Given the description of an element on the screen output the (x, y) to click on. 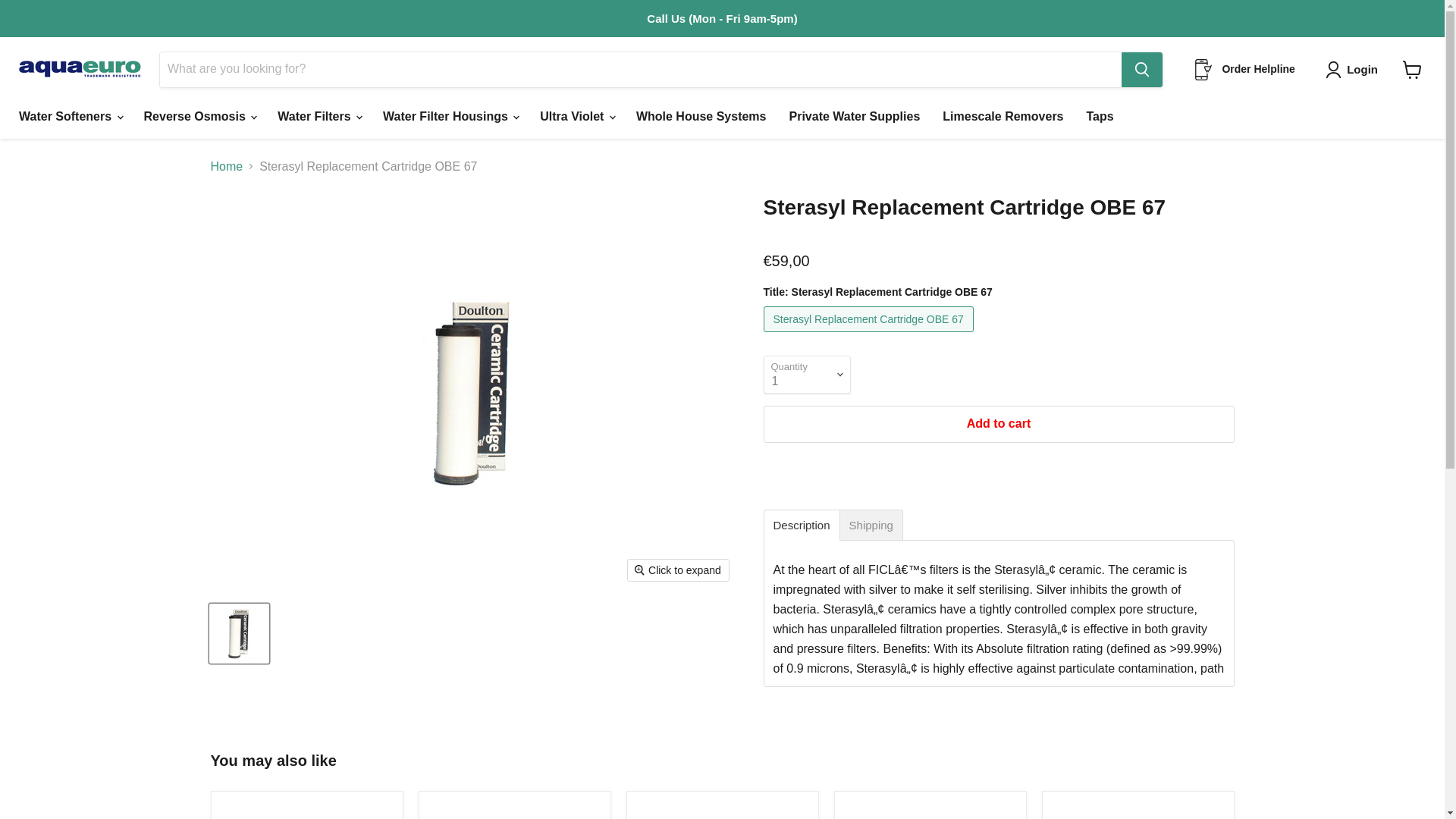
Water Softeners (69, 115)
Login (1362, 69)
Reverse Osmosis (199, 115)
Order Helpline (1243, 69)
Water Filters (318, 115)
View cart (1411, 69)
